Given the description of an element on the screen output the (x, y) to click on. 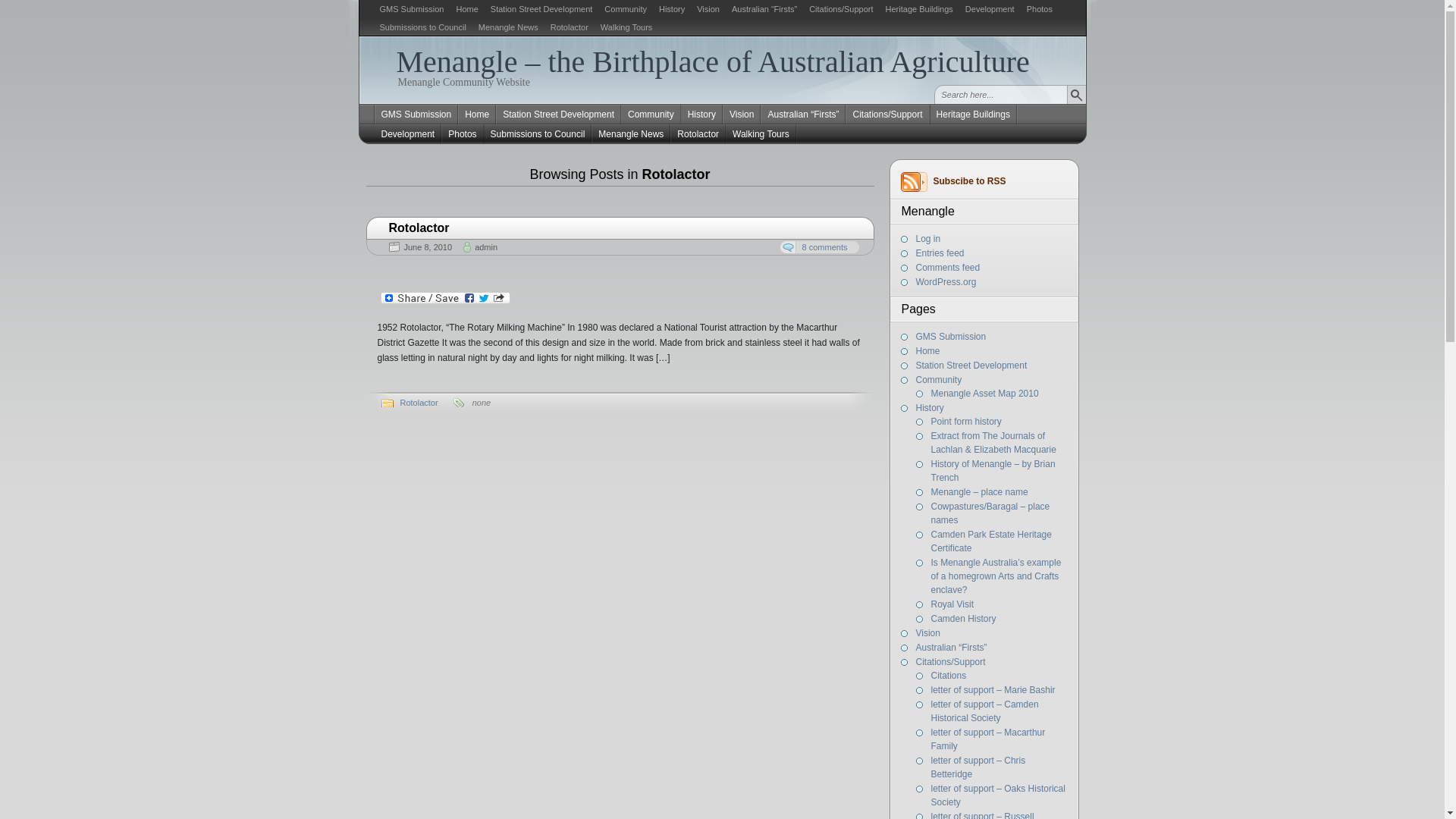
Submissions to Council Element type: text (537, 134)
Station Street Development Element type: text (558, 114)
Walking Tours Element type: text (626, 27)
Rotolactor Element type: text (569, 27)
Comments feed Element type: text (948, 267)
Community Element type: text (625, 9)
Photos Element type: text (462, 134)
GMS Submission Element type: text (415, 114)
Menangle Asset Map 2010 Element type: text (984, 393)
Menangle News Element type: text (630, 134)
Menangle News Element type: text (508, 27)
Camden Park Estate Heritage Certificate Element type: text (991, 541)
History Element type: text (701, 114)
Submissions to Council Element type: text (422, 27)
Extract from The Journals of Lachlan & Elizabeth Macquarie Element type: text (993, 442)
Development Element type: text (407, 134)
Home Element type: text (466, 9)
Community Element type: text (650, 114)
Community Element type: text (939, 379)
GMS Submission Element type: text (951, 336)
WordPress.org Element type: text (946, 281)
Entries feed Element type: text (940, 252)
Find Element type: text (1075, 93)
Development Element type: text (989, 9)
Home Element type: text (928, 350)
Vision Element type: text (741, 114)
admin Element type: text (485, 246)
History Element type: text (930, 407)
Home Element type: text (476, 114)
Rotolactor Element type: text (697, 134)
Log in Element type: text (928, 238)
Walking Tours Element type: text (760, 134)
Citations Element type: text (948, 675)
Citations/Support Element type: text (887, 114)
Rotolactor Element type: text (419, 402)
Heritage Buildings Element type: text (973, 114)
Station Street Development Element type: text (971, 365)
Royal Visit Element type: text (952, 604)
8 comments Element type: text (819, 247)
Heritage Buildings Element type: text (919, 9)
Photos Element type: text (1039, 9)
Vision Element type: text (928, 632)
Station Street Development Element type: text (541, 9)
Citations/Support Element type: text (950, 661)
Point form history Element type: text (966, 421)
Vision Element type: text (707, 9)
Citations/Support Element type: text (840, 9)
Rotolactor Element type: text (619, 227)
History Element type: text (671, 9)
GMS Submission Element type: text (411, 9)
Camden History Element type: text (963, 618)
